Given the description of an element on the screen output the (x, y) to click on. 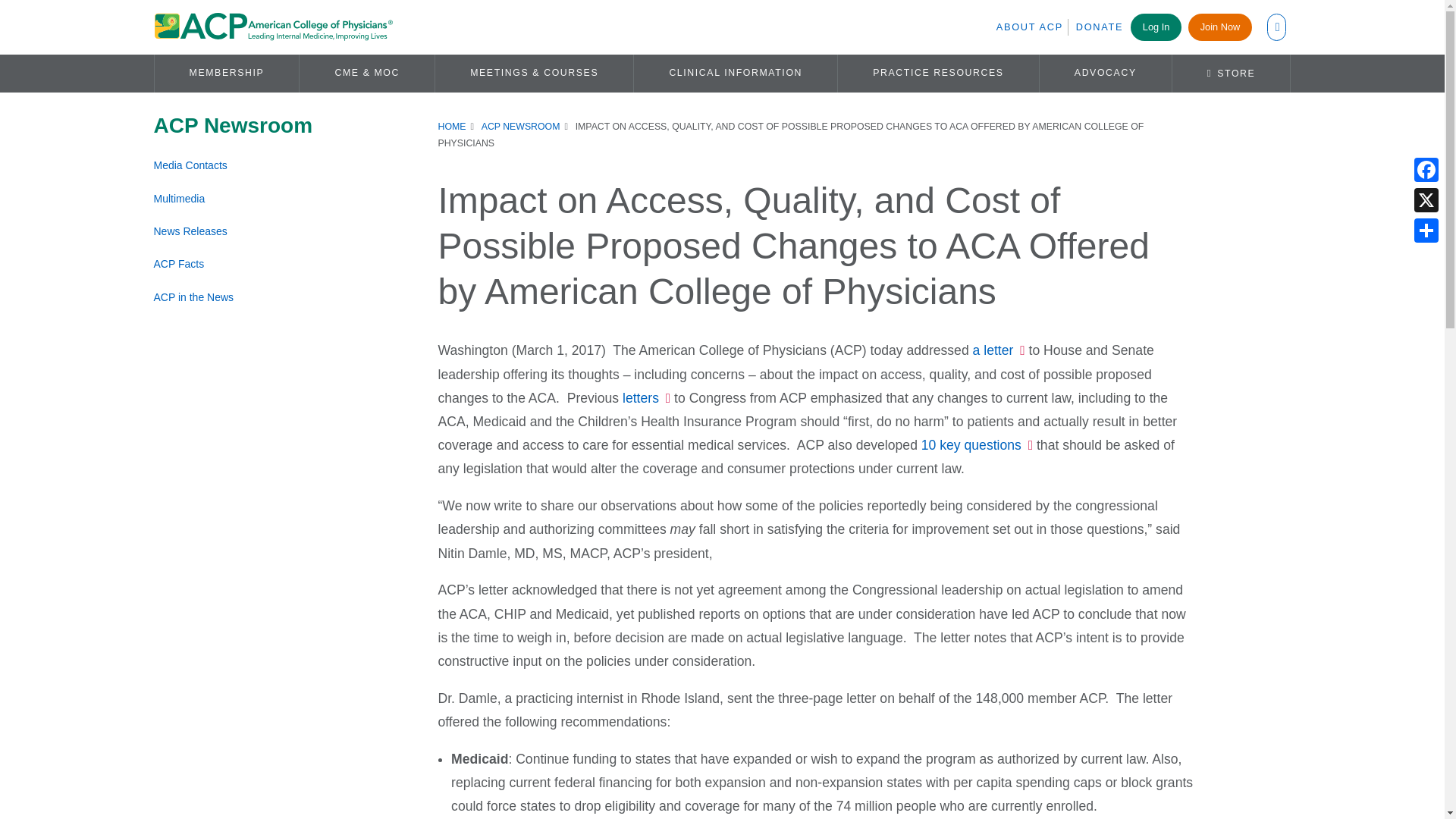
Join Now (1220, 26)
Log In (1156, 26)
Log in (1065, 269)
Home (271, 27)
ABOUT ACP (1031, 27)
DONATE (1098, 27)
MEMBERSHIP (226, 73)
Search (725, 190)
CLINICAL INFORMATION (735, 73)
